Given the description of an element on the screen output the (x, y) to click on. 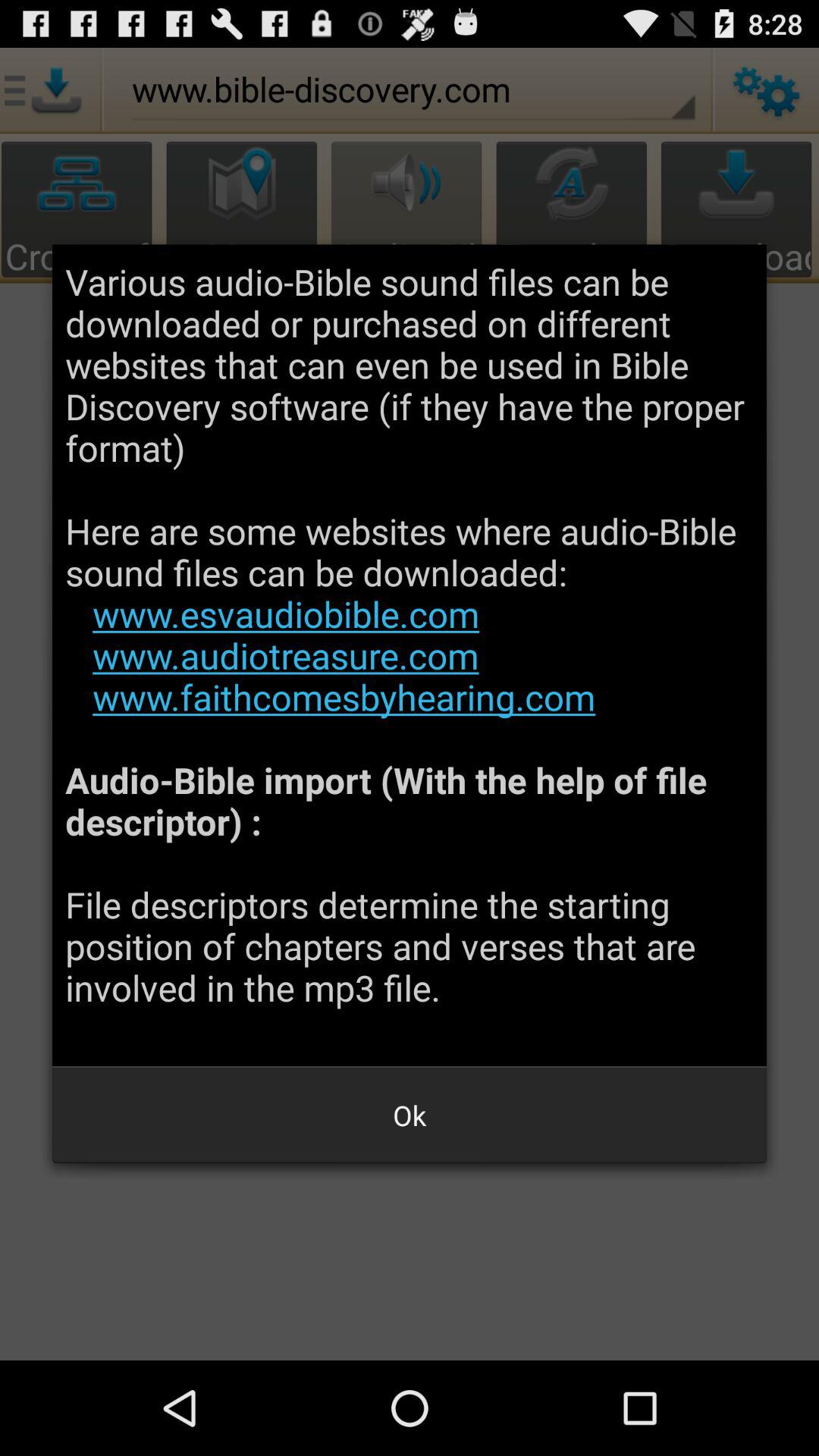
select app below the various audio bible (409, 1115)
